Given the description of an element on the screen output the (x, y) to click on. 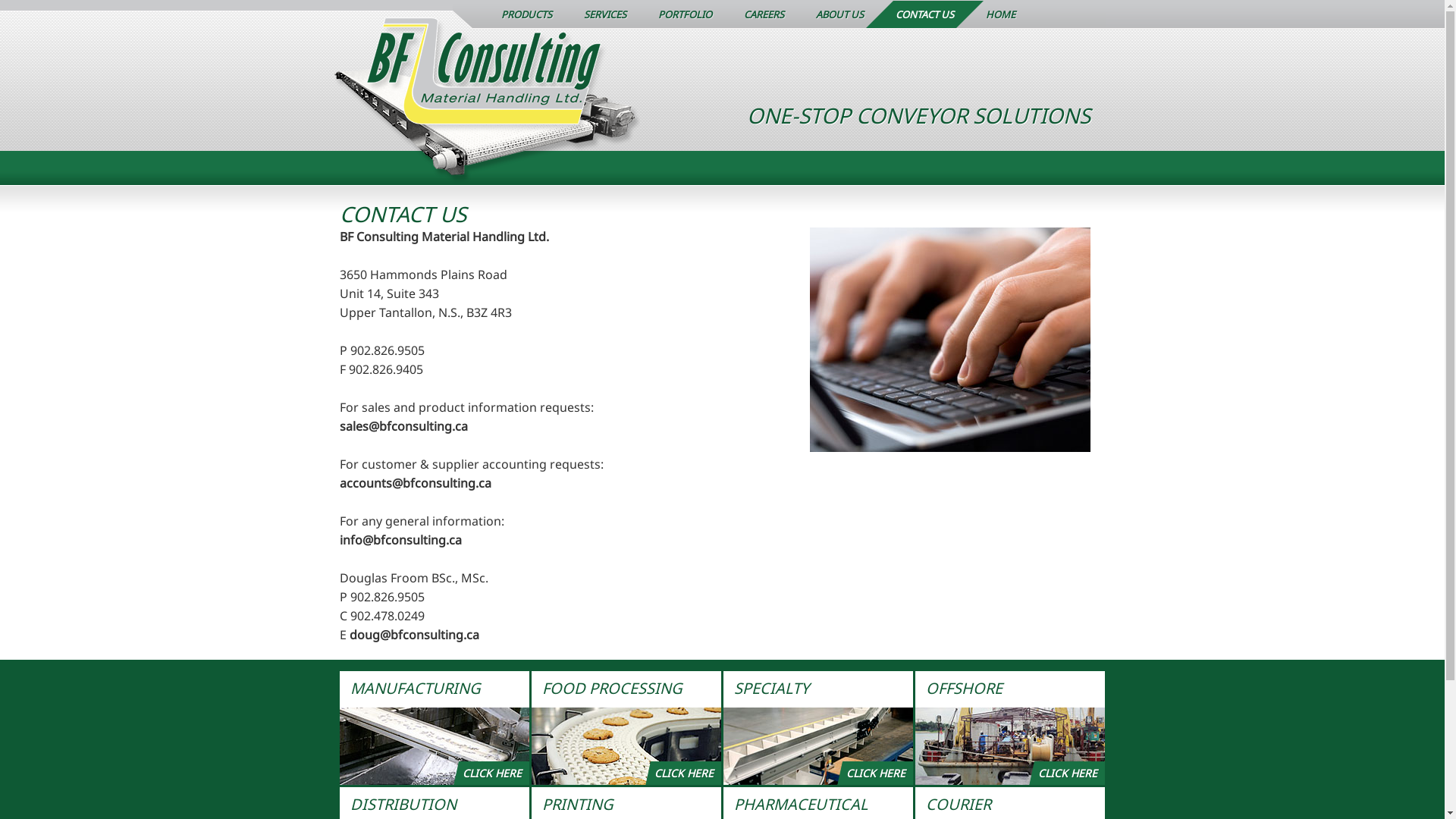
CLICK HERE Element type: text (818, 727)
CLICK HERE Element type: text (625, 727)
CONTACT US Element type: text (924, 14)
sales@bfconsulting.ca Element type: text (403, 425)
ABOUT US Element type: text (838, 14)
info@bfconsulting.ca Element type: text (400, 539)
accounts@bfconsulting.ca Element type: text (415, 482)
doug@bfconsulting.ca Element type: text (413, 634)
CLICK HERE Element type: text (434, 727)
PRODUCTS Element type: text (526, 14)
CAREERS Element type: text (763, 14)
CLICK HERE Element type: text (1009, 727)
HOME Element type: text (999, 14)
PORTFOLIO Element type: text (684, 14)
SERVICES Element type: text (603, 14)
